Given the description of an element on the screen output the (x, y) to click on. 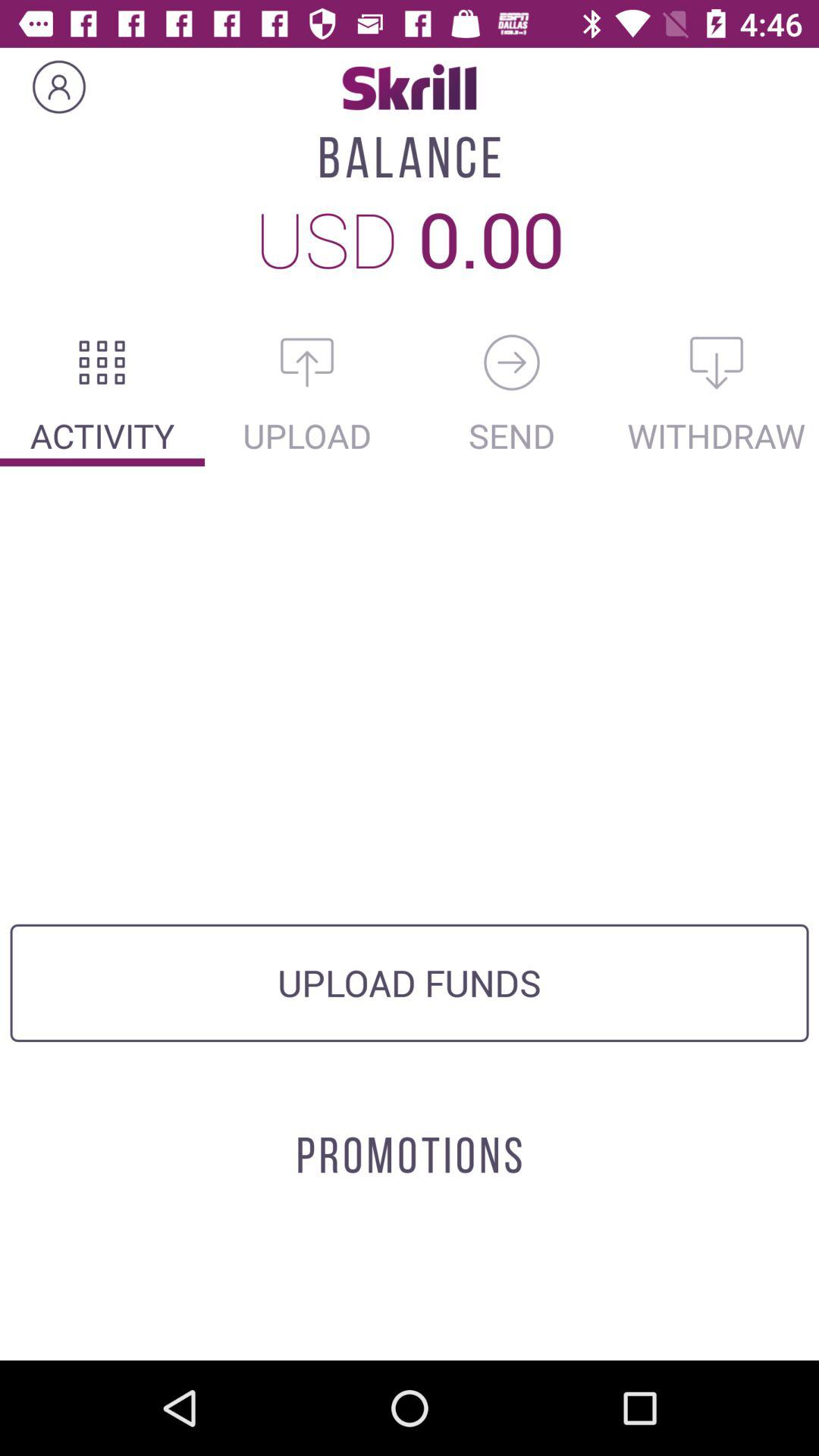
select withdraw (716, 362)
